Given the description of an element on the screen output the (x, y) to click on. 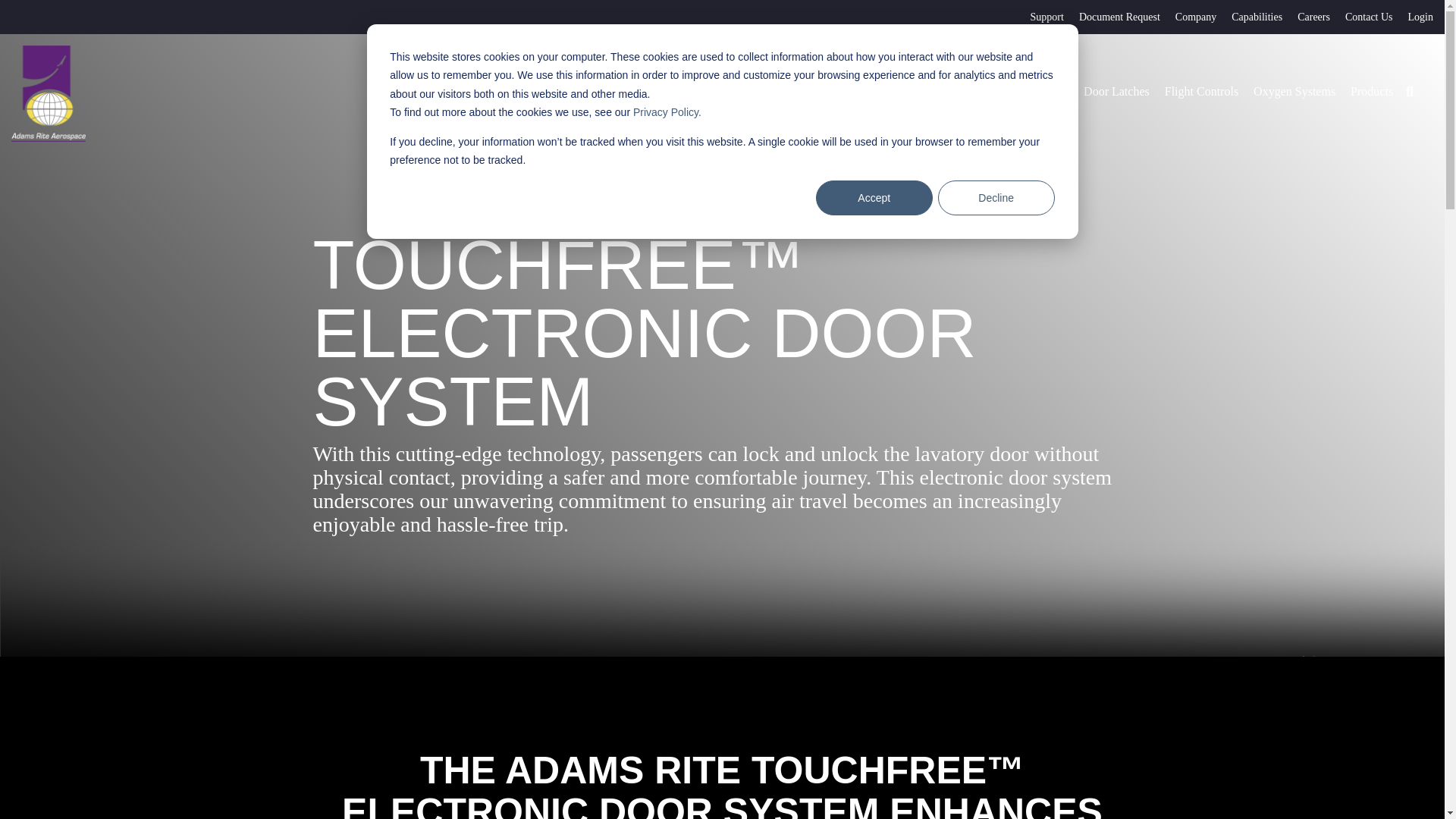
Contact Us (1361, 17)
Water Systems (871, 91)
Company (1187, 17)
Cockpit Security (964, 91)
Privacy Policy. (667, 112)
Login (1412, 17)
Door Latches (1116, 91)
Document Request (1112, 17)
Support (1039, 17)
